Given the description of an element on the screen output the (x, y) to click on. 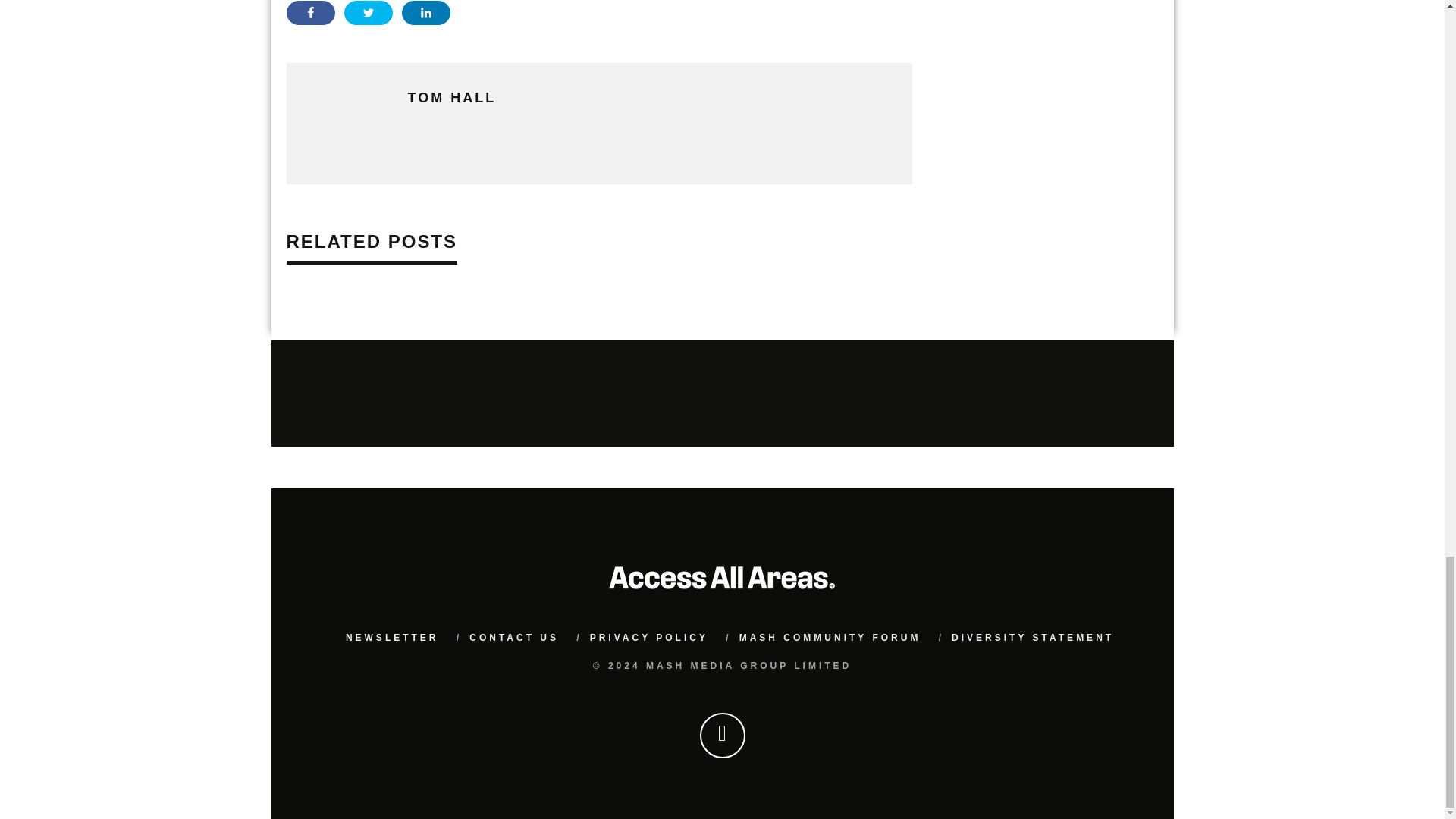
Share on Twitter (368, 12)
Share on Facebook (310, 12)
Share on LinkedIn (425, 12)
